Given the description of an element on the screen output the (x, y) to click on. 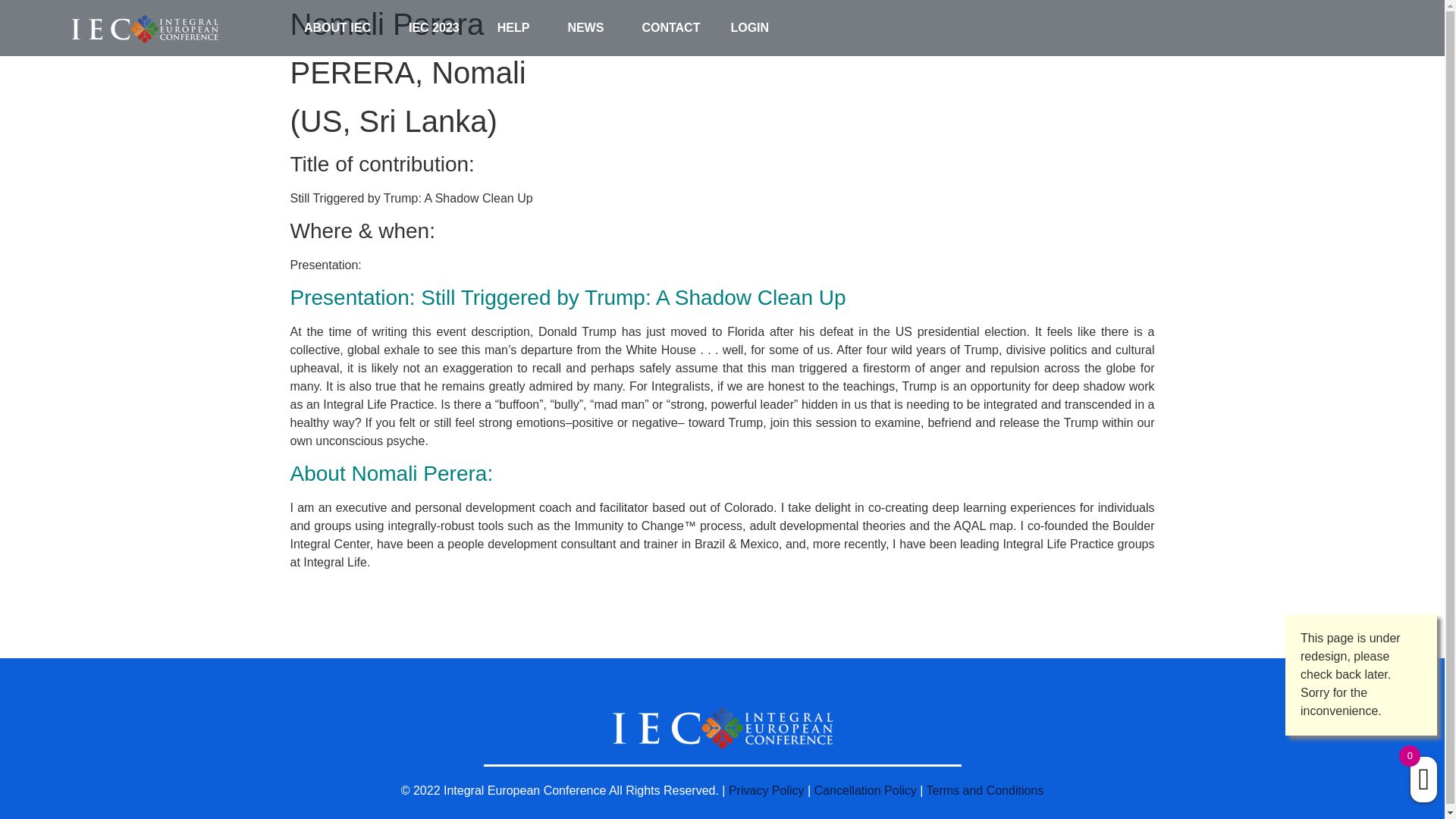
CONTACT (670, 27)
IEC 2023 (437, 27)
HELP (517, 27)
NEWS (588, 27)
LOGIN (749, 27)
ABOUT IEC (340, 27)
